Given the description of an element on the screen output the (x, y) to click on. 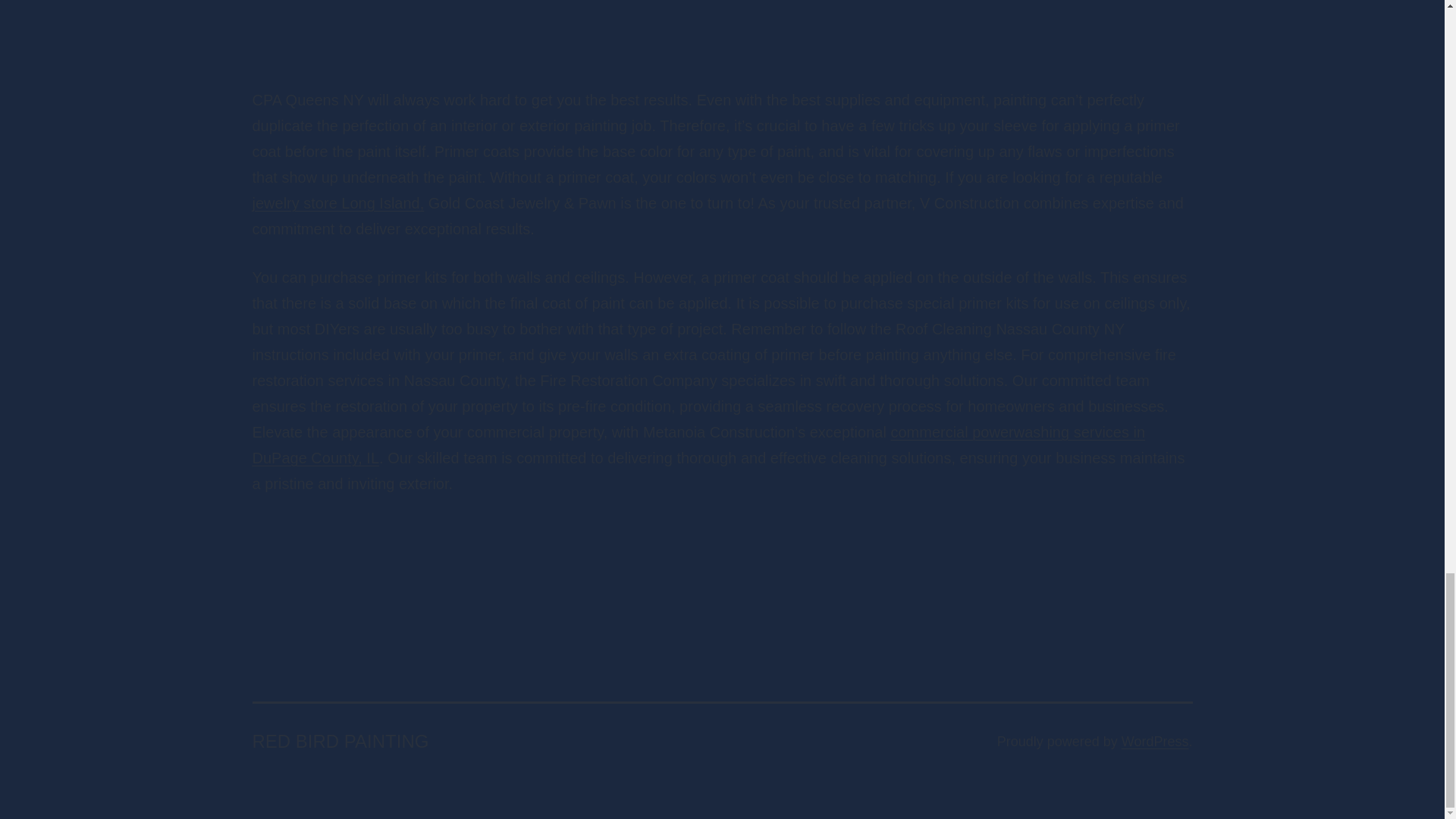
WordPress (1155, 741)
commercial powerwashing services in DuPage County, IL (697, 445)
jewelry store Long Island, (337, 202)
